Given the description of an element on the screen output the (x, y) to click on. 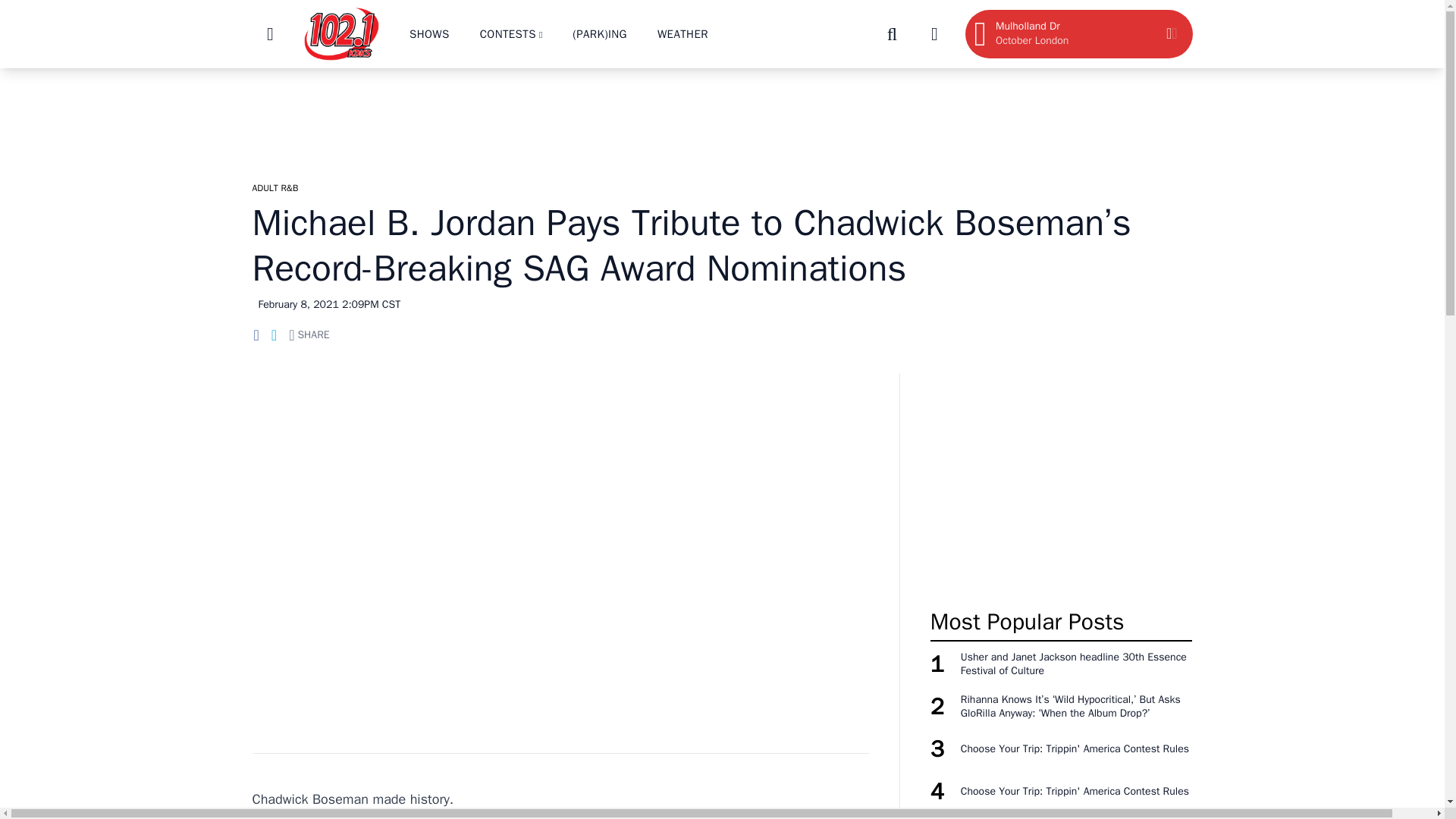
WEATHER (682, 33)
3rd party ad content (1060, 483)
SHOWS (429, 33)
CONTESTS (507, 33)
3rd party ad content (721, 117)
102.1 KDKS (1080, 33)
